Given the description of an element on the screen output the (x, y) to click on. 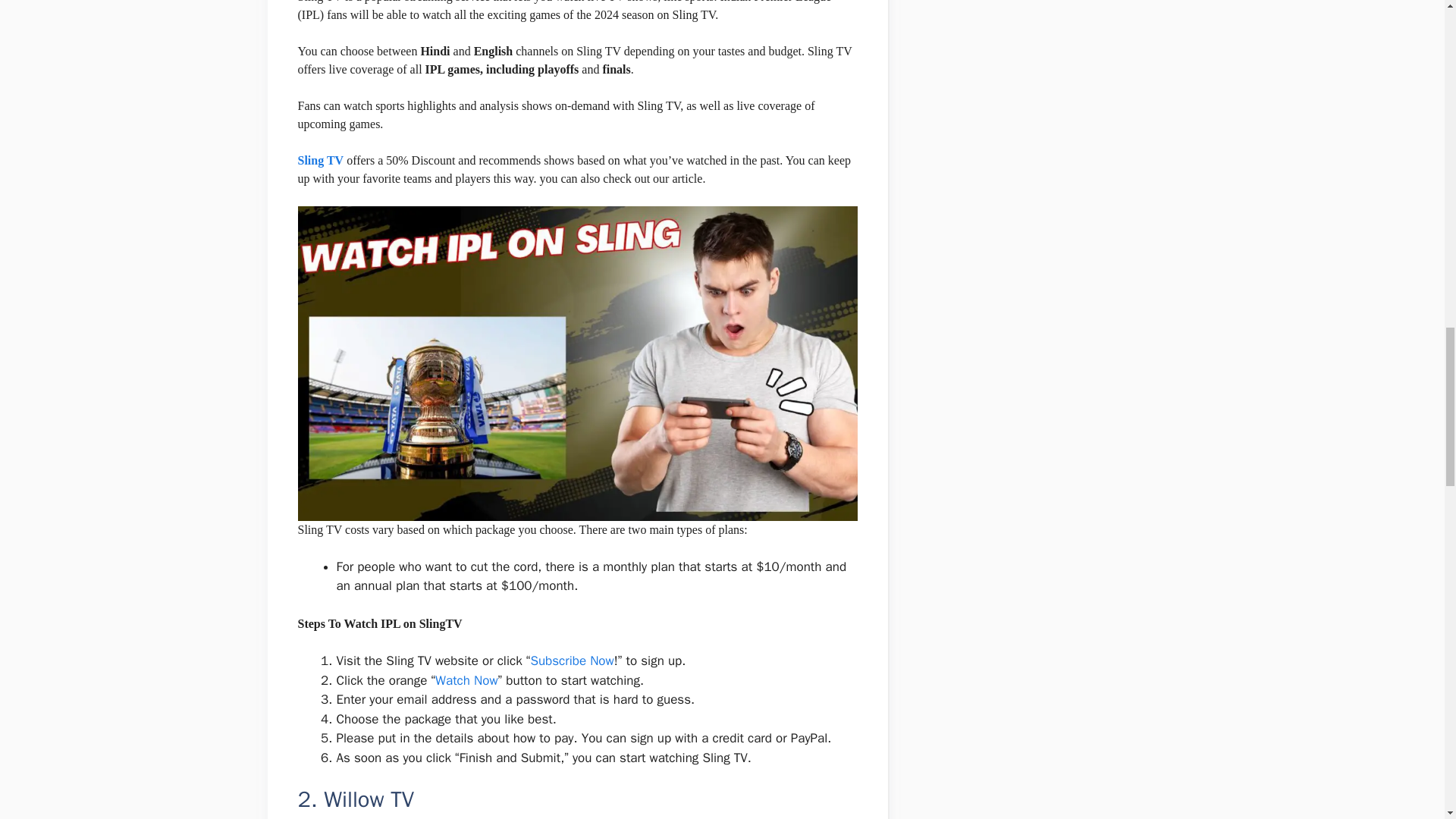
Watch Now (466, 680)
Subscribe Now (570, 660)
Sling TV (320, 160)
